Given the description of an element on the screen output the (x, y) to click on. 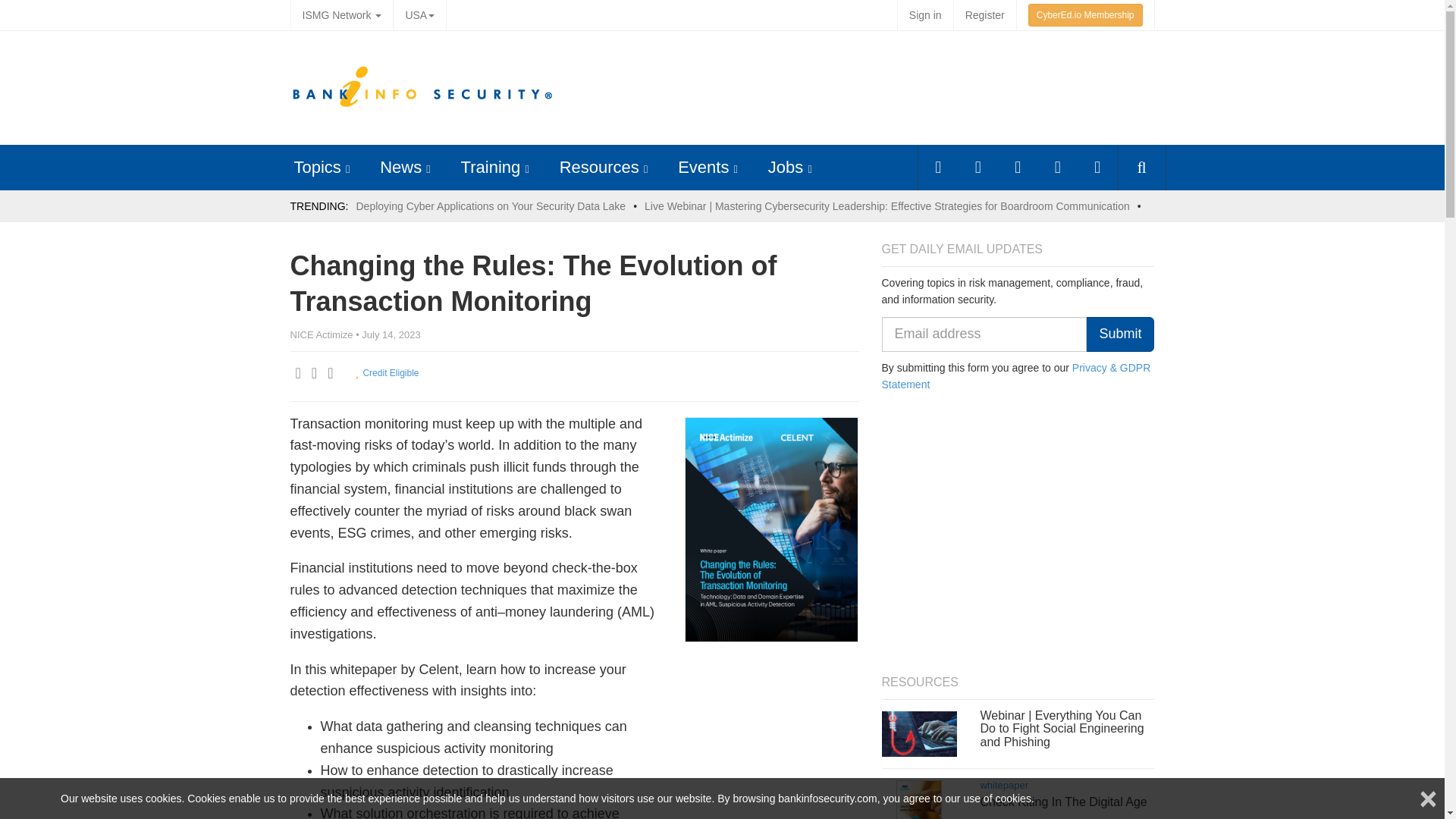
Register (984, 15)
Topics (317, 167)
ISMG Network (341, 15)
Sign in (925, 15)
CyberEd.io Membership (1084, 15)
USA (418, 15)
3rd party ad content (873, 88)
